Given the description of an element on the screen output the (x, y) to click on. 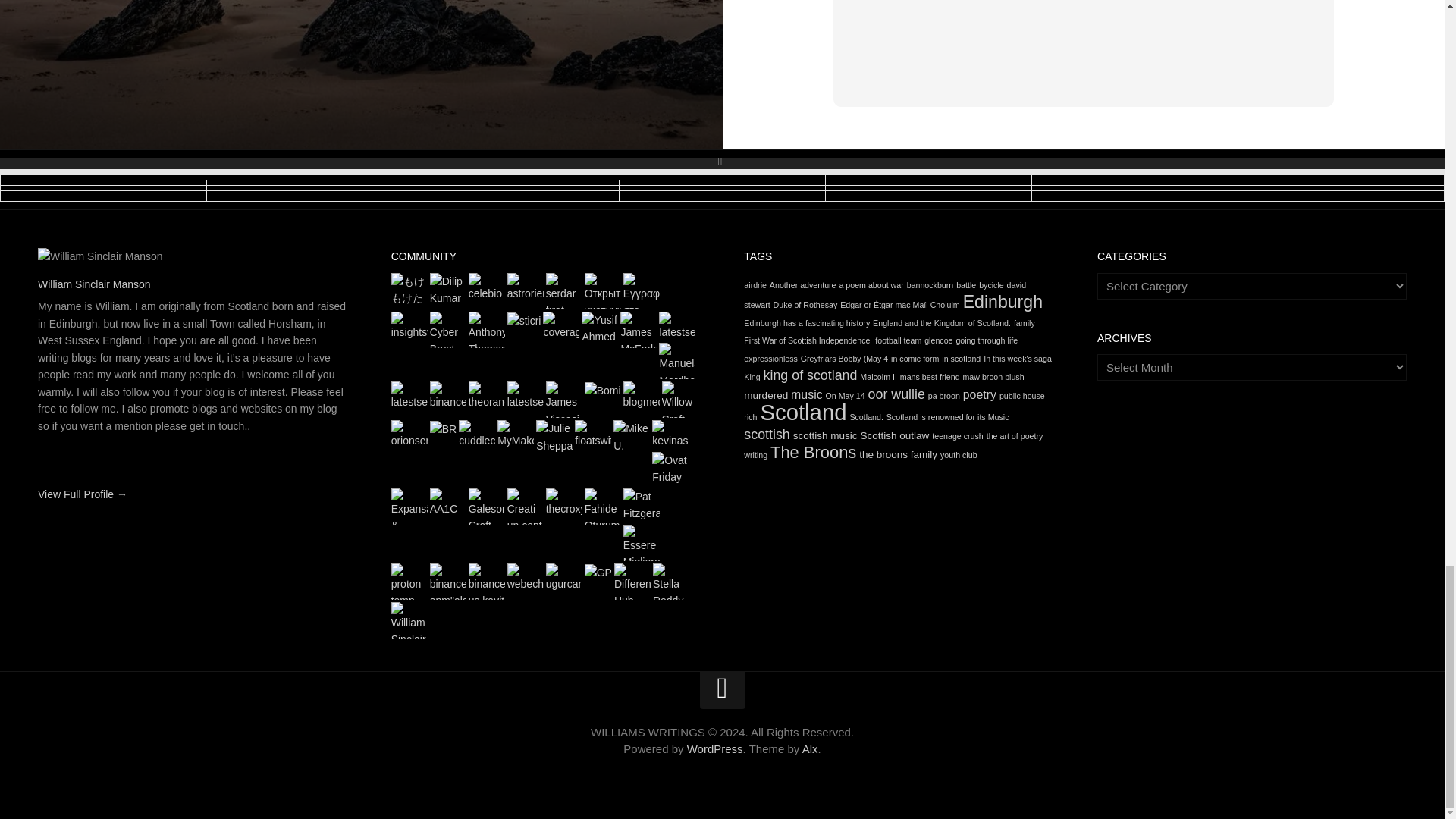
Comment Form (1083, 43)
